Given the description of an element on the screen output the (x, y) to click on. 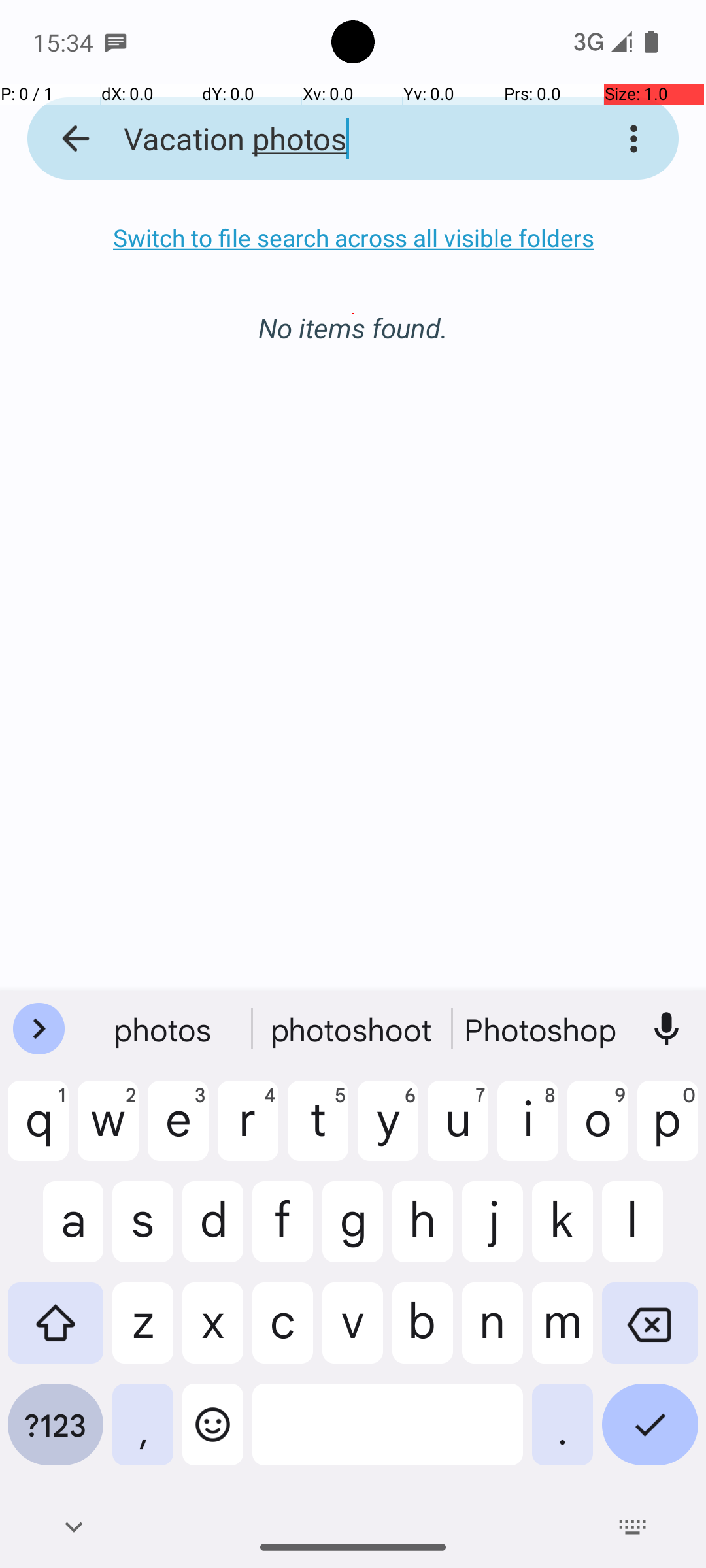
Switch to file search across all visible folders Element type: android.widget.TextView (353, 237)
No items found. Element type: android.widget.TextView (353, 313)
Vacation photos Element type: android.widget.EditText (335, 138)
Switch input method Element type: android.widget.ImageView (632, 1526)
Open features menu Element type: android.widget.FrameLayout (39, 1028)
photos Element type: android.widget.FrameLayout (163, 1028)
photography Element type: android.widget.FrameLayout (541, 1028)
Voice input Element type: android.widget.FrameLayout (666, 1028)
q Element type: android.widget.FrameLayout (38, 1130)
w Element type: android.widget.FrameLayout (108, 1130)
e Element type: android.widget.FrameLayout (178, 1130)
r Element type: android.widget.FrameLayout (248, 1130)
t Element type: android.widget.FrameLayout (318, 1130)
y Element type: android.widget.FrameLayout (387, 1130)
u Element type: android.widget.FrameLayout (457, 1130)
i Element type: android.widget.FrameLayout (527, 1130)
o Element type: android.widget.FrameLayout (597, 1130)
p Element type: android.widget.FrameLayout (667, 1130)
a Element type: android.widget.FrameLayout (55, 1231)
s Element type: android.widget.FrameLayout (142, 1231)
d Element type: android.widget.FrameLayout (212, 1231)
f Element type: android.widget.FrameLayout (282, 1231)
g Element type: android.widget.FrameLayout (352, 1231)
h Element type: android.widget.FrameLayout (422, 1231)
j Element type: android.widget.FrameLayout (492, 1231)
k Element type: android.widget.FrameLayout (562, 1231)
l Element type: android.widget.FrameLayout (649, 1231)
Shift Element type: android.widget.FrameLayout (55, 1332)
z Element type: android.widget.FrameLayout (142, 1332)
x Element type: android.widget.FrameLayout (212, 1332)
c Element type: android.widget.FrameLayout (282, 1332)
v Element type: android.widget.FrameLayout (352, 1332)
b Element type: android.widget.FrameLayout (422, 1332)
n Element type: android.widget.FrameLayout (492, 1332)
m Element type: android.widget.FrameLayout (562, 1332)
Symbol keyboard Element type: android.widget.FrameLayout (55, 1434)
, Element type: android.widget.FrameLayout (142, 1434)
Emoji button Element type: android.widget.FrameLayout (212, 1434)
Space Element type: android.widget.FrameLayout (387, 1434)
. Element type: android.widget.FrameLayout (562, 1434)
Done Element type: android.widget.FrameLayout (649, 1434)
